Given the description of an element on the screen output the (x, y) to click on. 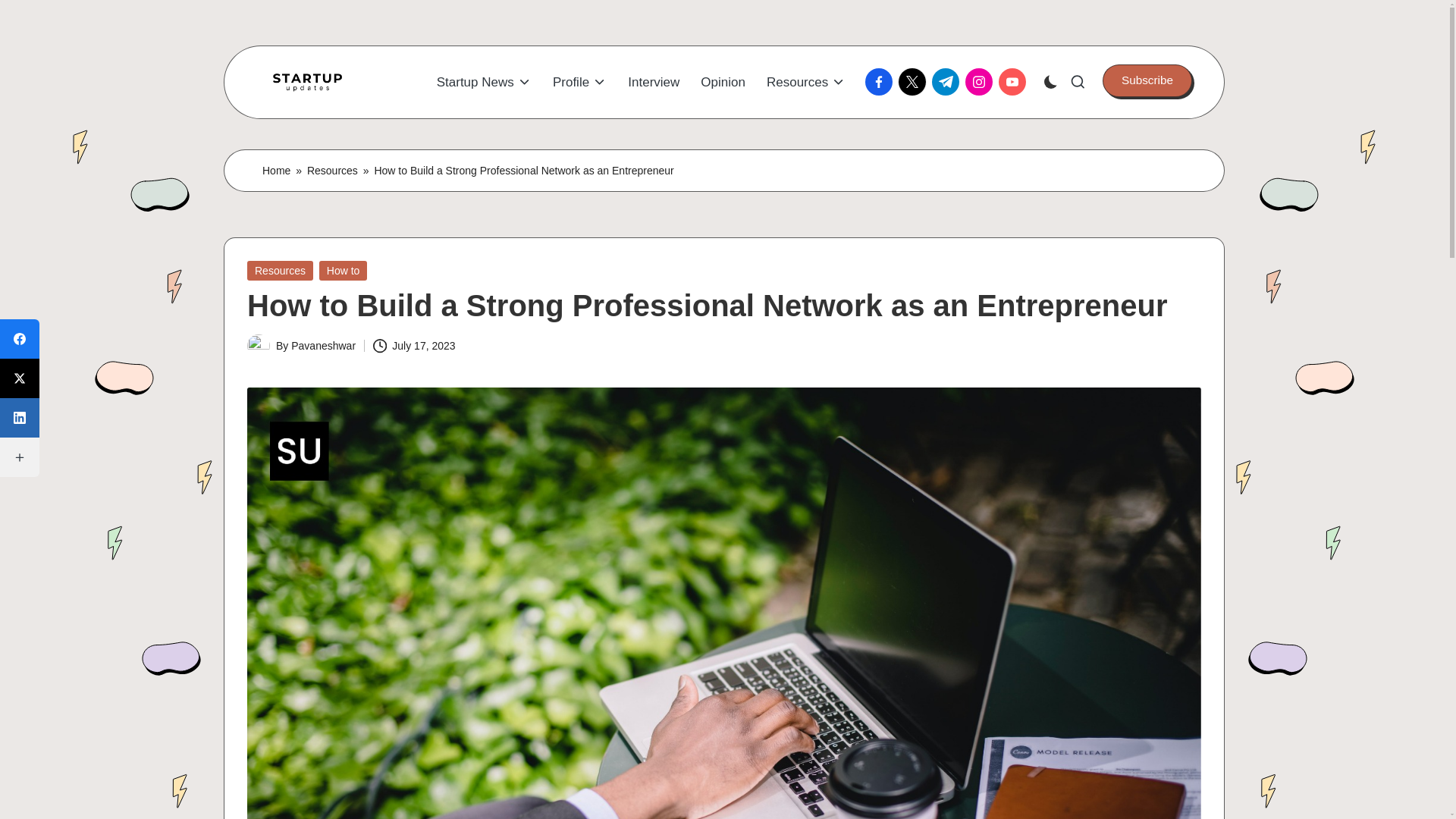
twitter.com (914, 81)
Profile (580, 82)
Resources (806, 82)
youtube.com (1015, 81)
Resources (332, 170)
instagram.com (981, 81)
View all posts by Pavaneshwar (323, 345)
Startup News (483, 82)
facebook.com (881, 81)
Opinion (722, 82)
Home (275, 170)
t.me (948, 81)
Interview (653, 82)
Subscribe (1147, 80)
